Given the description of an element on the screen output the (x, y) to click on. 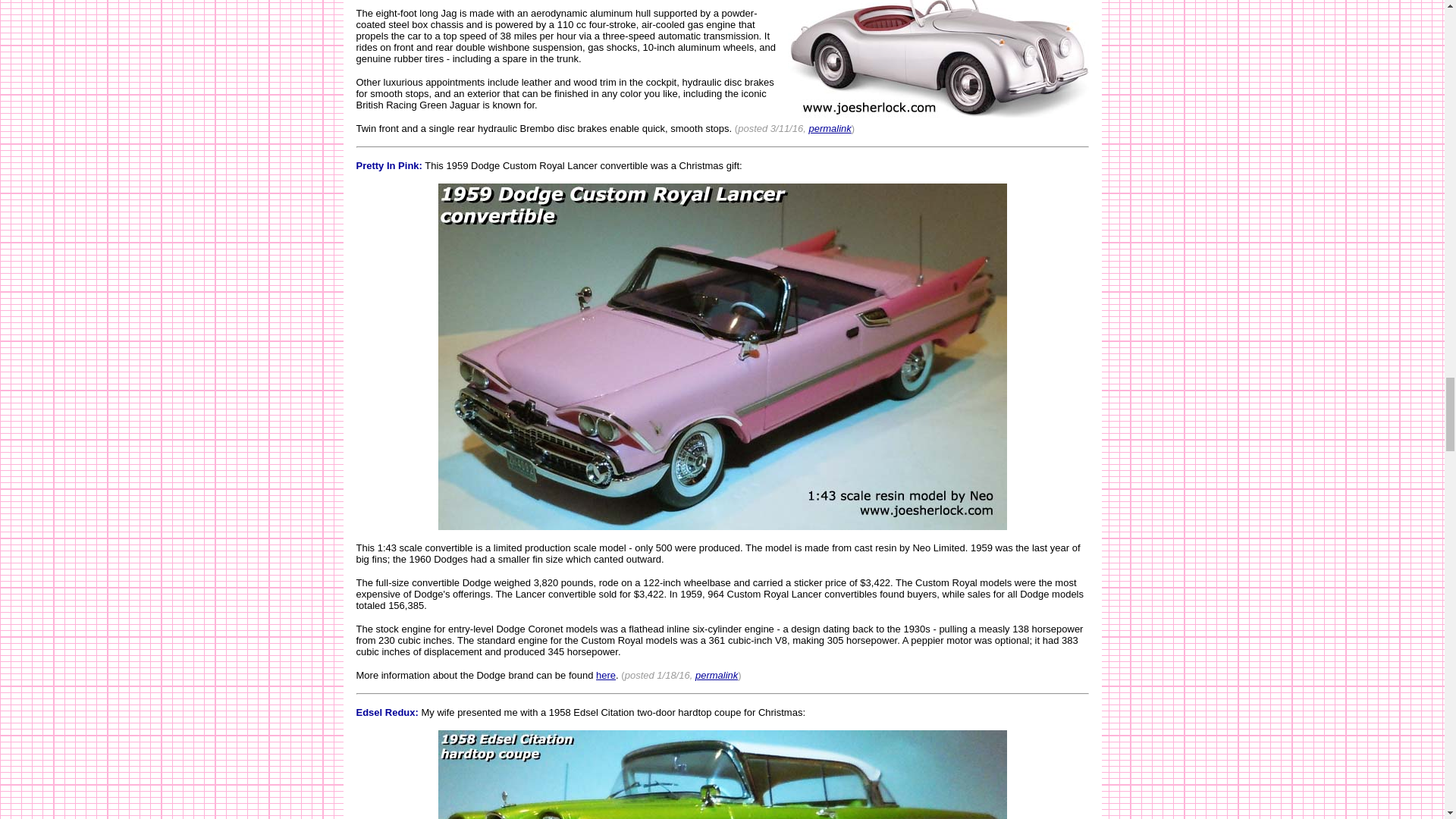
here (605, 674)
permalink (829, 128)
permalink (716, 674)
